Given the description of an element on the screen output the (x, y) to click on. 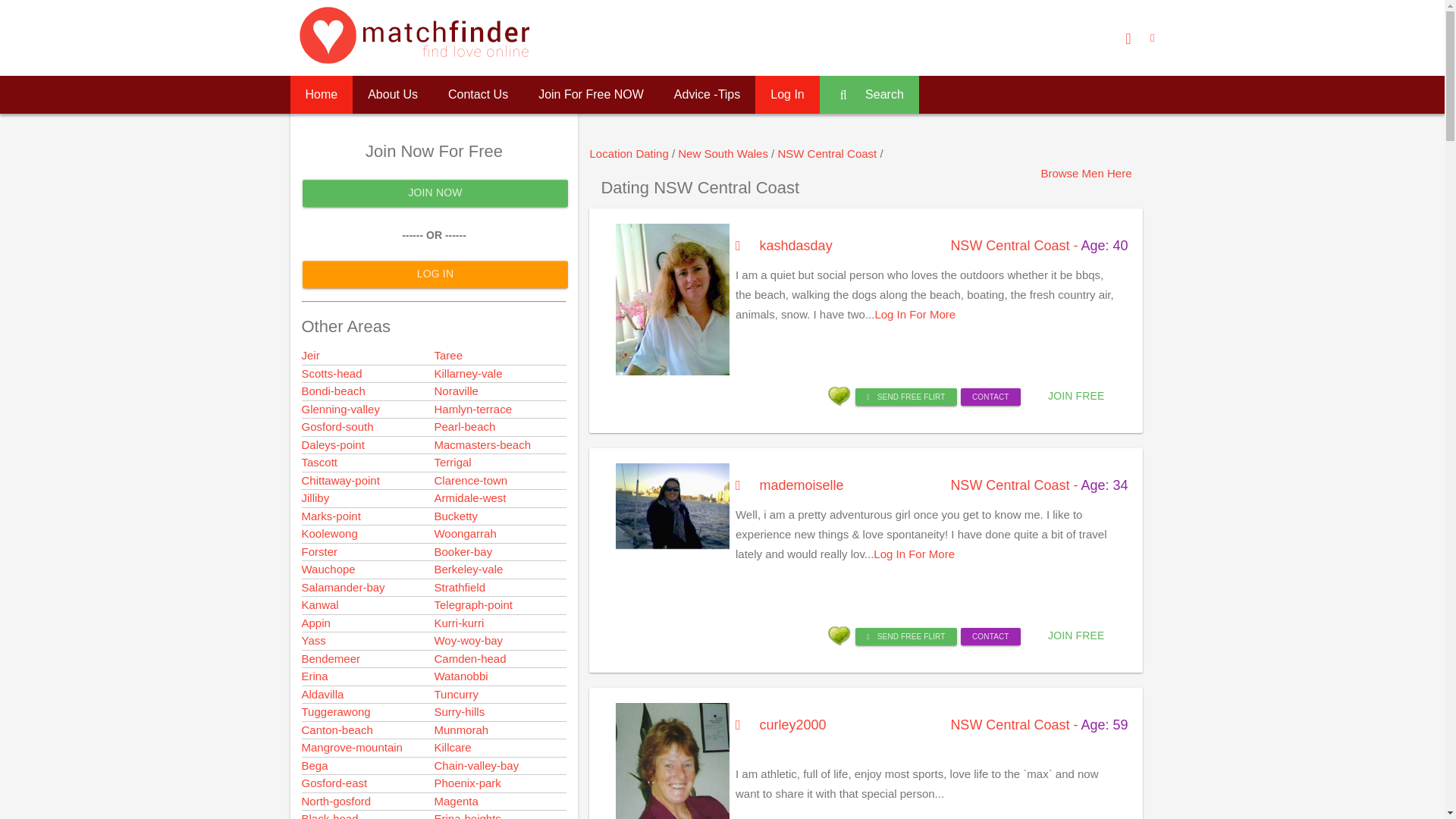
Log In (786, 94)
Glenning-valley (340, 408)
Bondi-beach (333, 390)
LOG IN (434, 274)
Jeir (310, 354)
Noraville (455, 390)
Join For Free NOW (590, 94)
Advice -Tips (707, 94)
Search (868, 94)
Home (320, 94)
Scotts-head (331, 373)
Contact Us (477, 94)
JOIN NOW (434, 193)
Taree (448, 354)
About Us (392, 94)
